Given the description of an element on the screen output the (x, y) to click on. 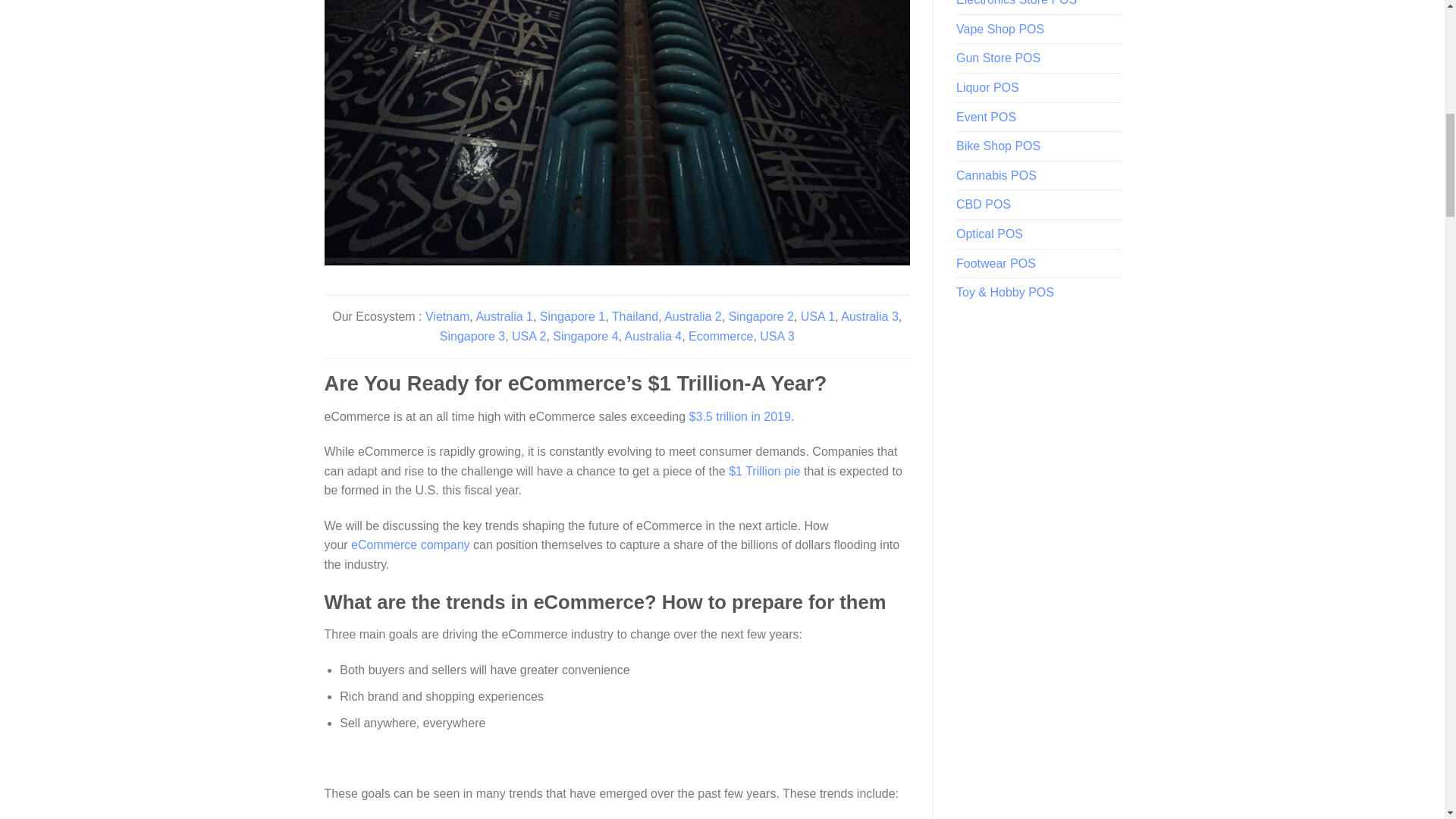
Australia 3 (869, 316)
Singapore 3 (472, 336)
USA 2 (529, 336)
Ecommerce (720, 336)
USA 3 (776, 336)
Singapore 2 (761, 316)
eCommerce company (410, 544)
Singapore 4 (585, 336)
Australia 2 (692, 316)
Australia 1 (504, 316)
